Given the description of an element on the screen output the (x, y) to click on. 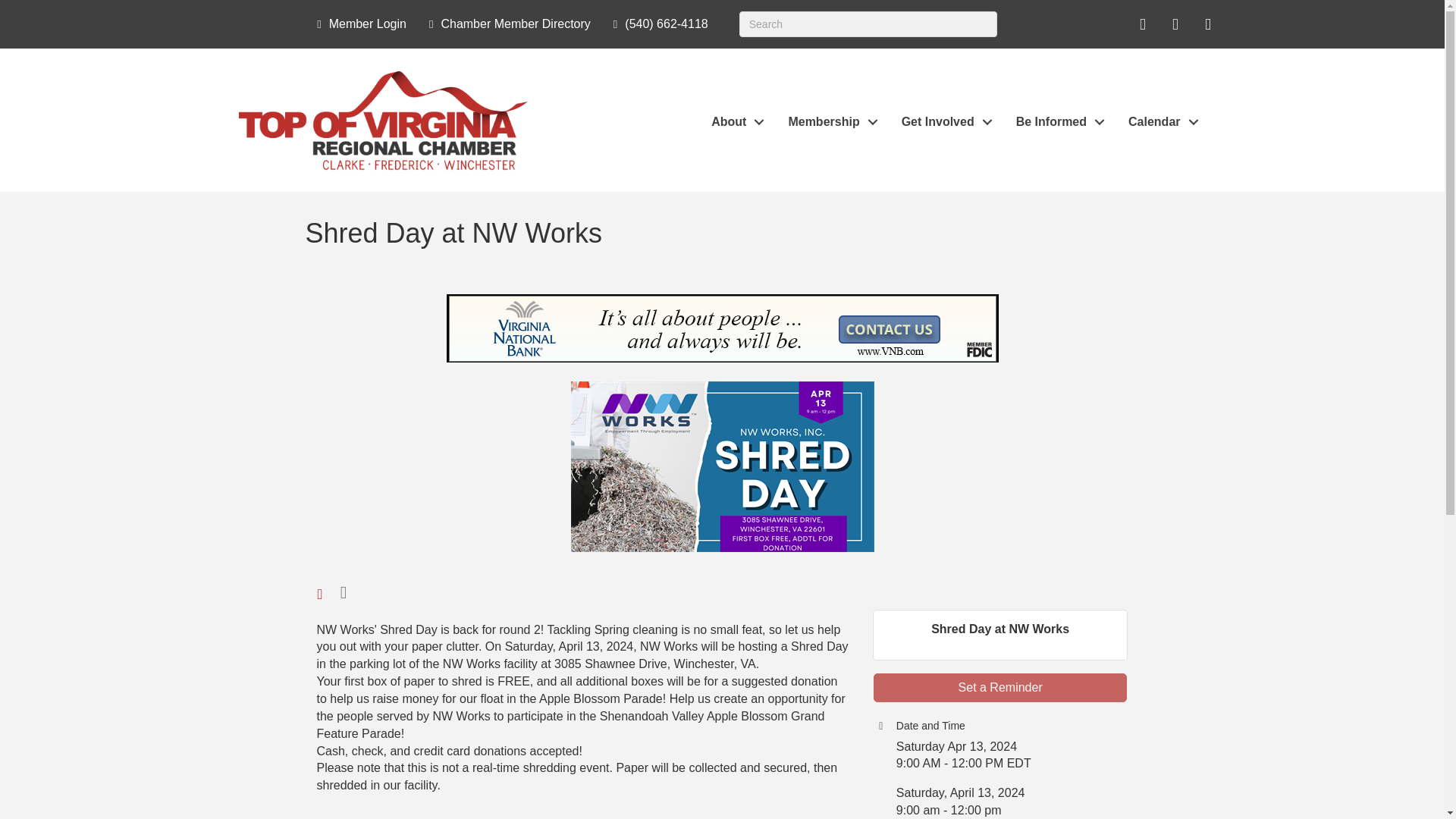
Type and press Enter to search. (868, 23)
Chamber Member Directory (506, 23)
About (733, 122)
Member Login (357, 23)
Get Involved (943, 122)
Membership (829, 122)
TVRC Logo for Digital Use (382, 121)
